Given the description of an element on the screen output the (x, y) to click on. 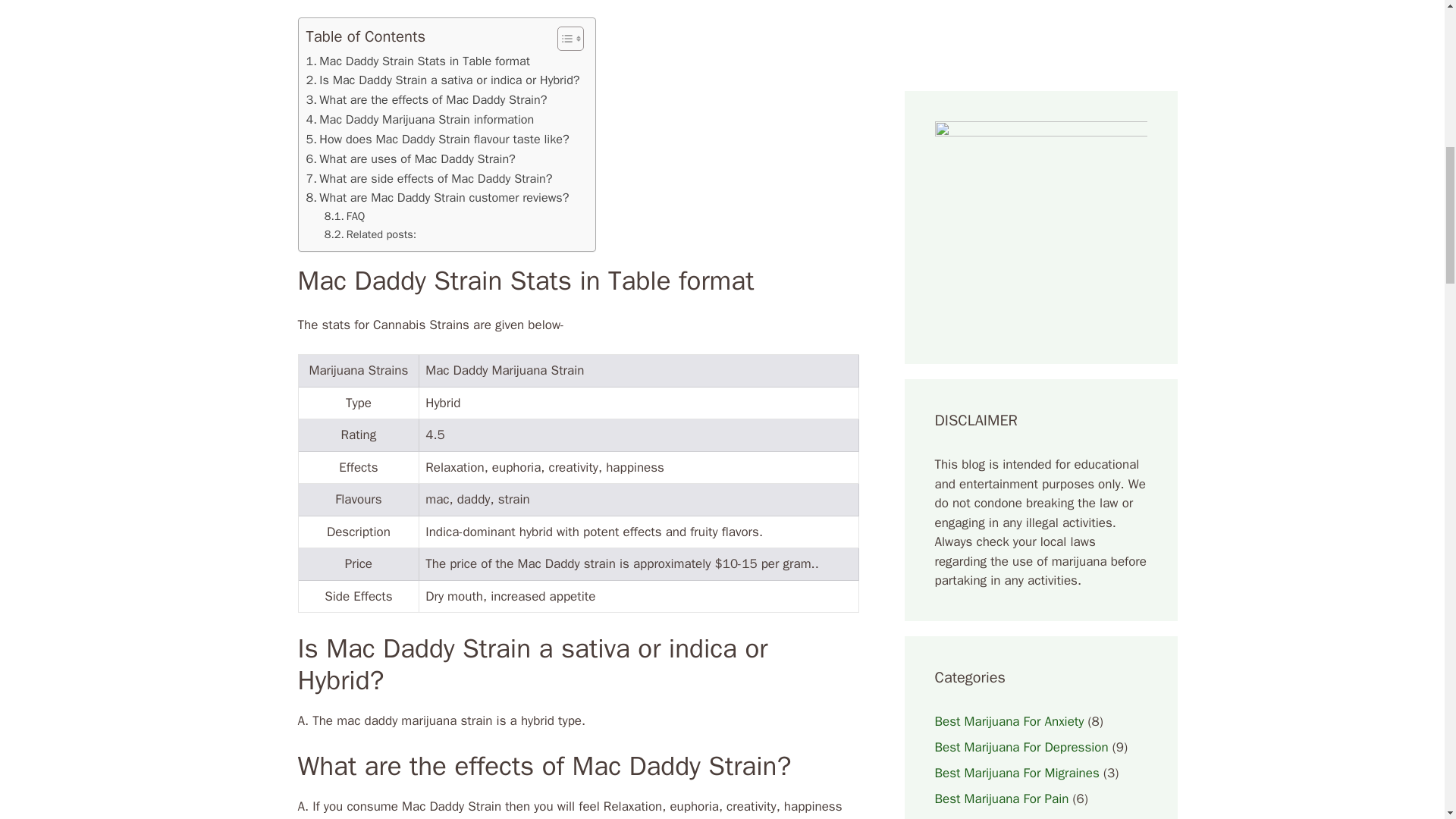
What are side effects of Mac Daddy Strain? (429, 178)
How does Mac Daddy Strain flavour taste like? (437, 139)
What are uses of Mac Daddy Strain? (410, 158)
Related posts: (370, 234)
Mac Daddy Marijuana Strain information (419, 119)
Mac Daddy Strain Stats in Table format (417, 61)
What are the effects of Mac Daddy Strain? (426, 99)
Mac Daddy Marijuana Strain information (419, 119)
Is Mac Daddy Strain a sativa or indica or Hybrid? (442, 80)
What are Mac Daddy Strain customer reviews? (437, 198)
